Given the description of an element on the screen output the (x, y) to click on. 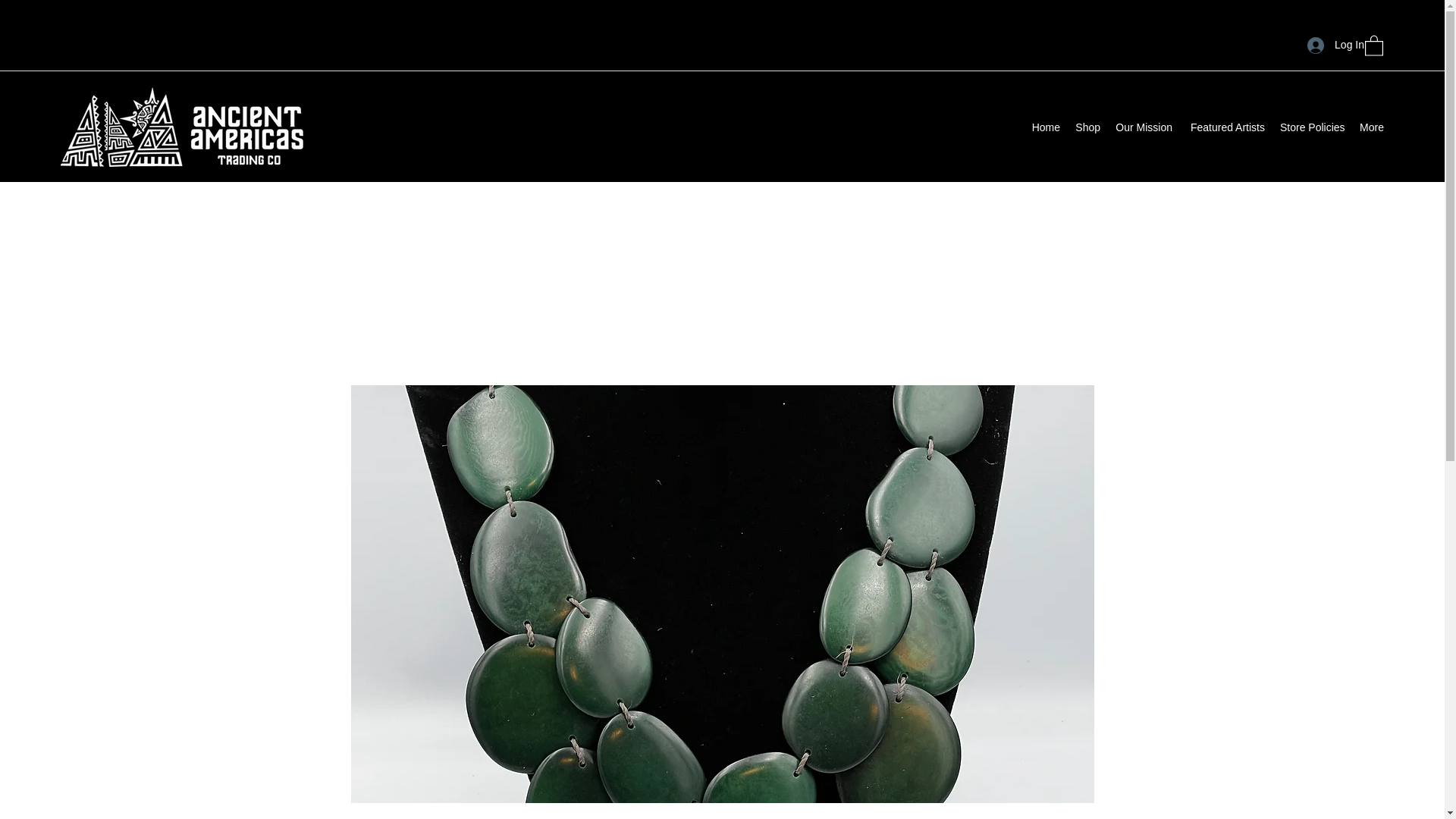
Store Policies (1311, 127)
Shop (1087, 127)
Log In (1335, 44)
Featured Artists (1225, 127)
Home (1045, 127)
Our Mission (1143, 127)
